Given the description of an element on the screen output the (x, y) to click on. 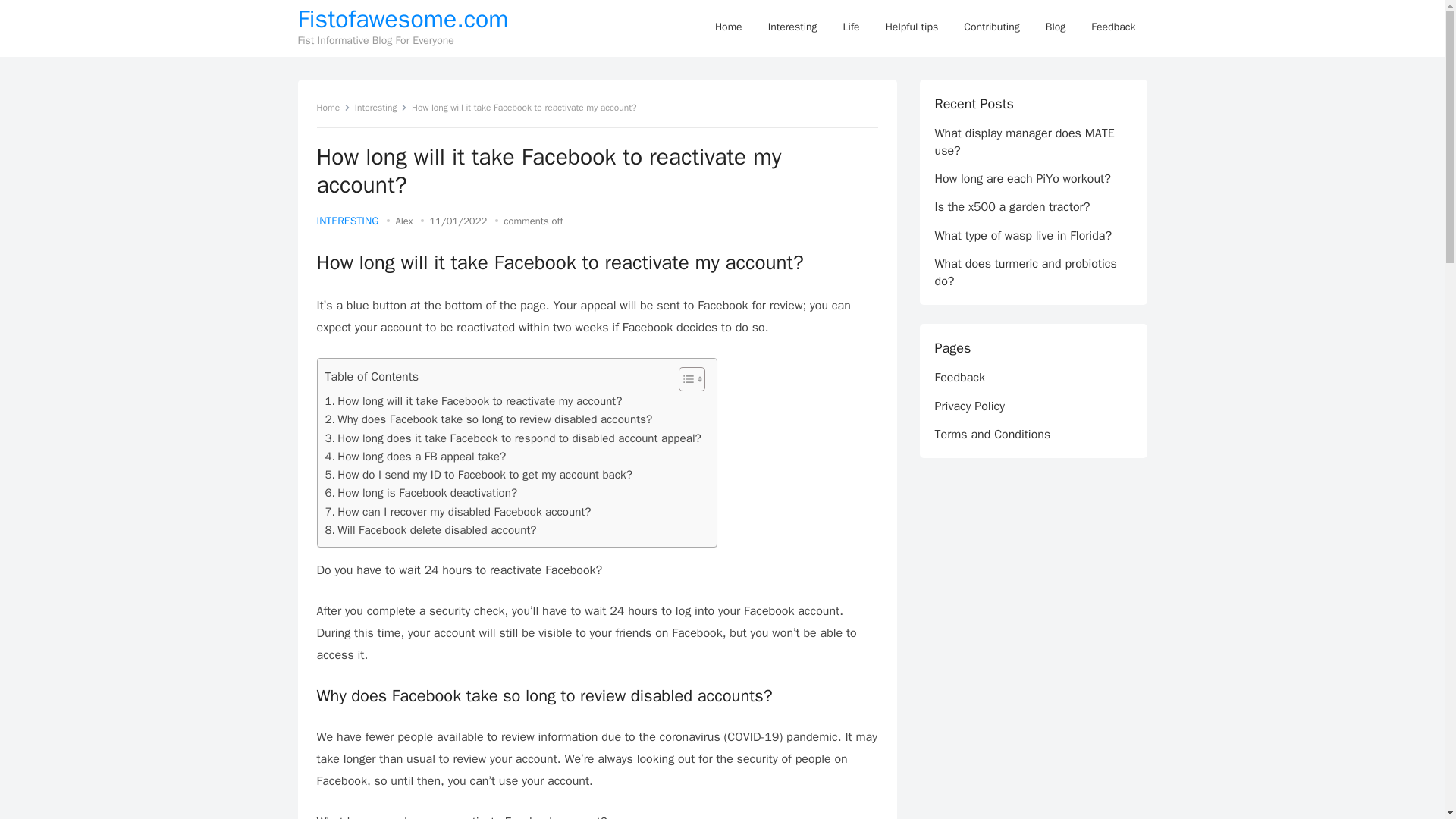
How do I send my ID to Facebook to get my account back? (477, 475)
Fistofawesome.com (402, 19)
How can I recover my disabled Facebook account? (457, 511)
How can I recover my disabled Facebook account? (457, 511)
How long will it take Facebook to reactivate my account? (472, 401)
Posts by Alex (403, 220)
Contributing (991, 27)
Will Facebook delete disabled account? (429, 529)
How long does a FB appeal take? (414, 456)
How long is Facebook deactivation? (420, 493)
